Given the description of an element on the screen output the (x, y) to click on. 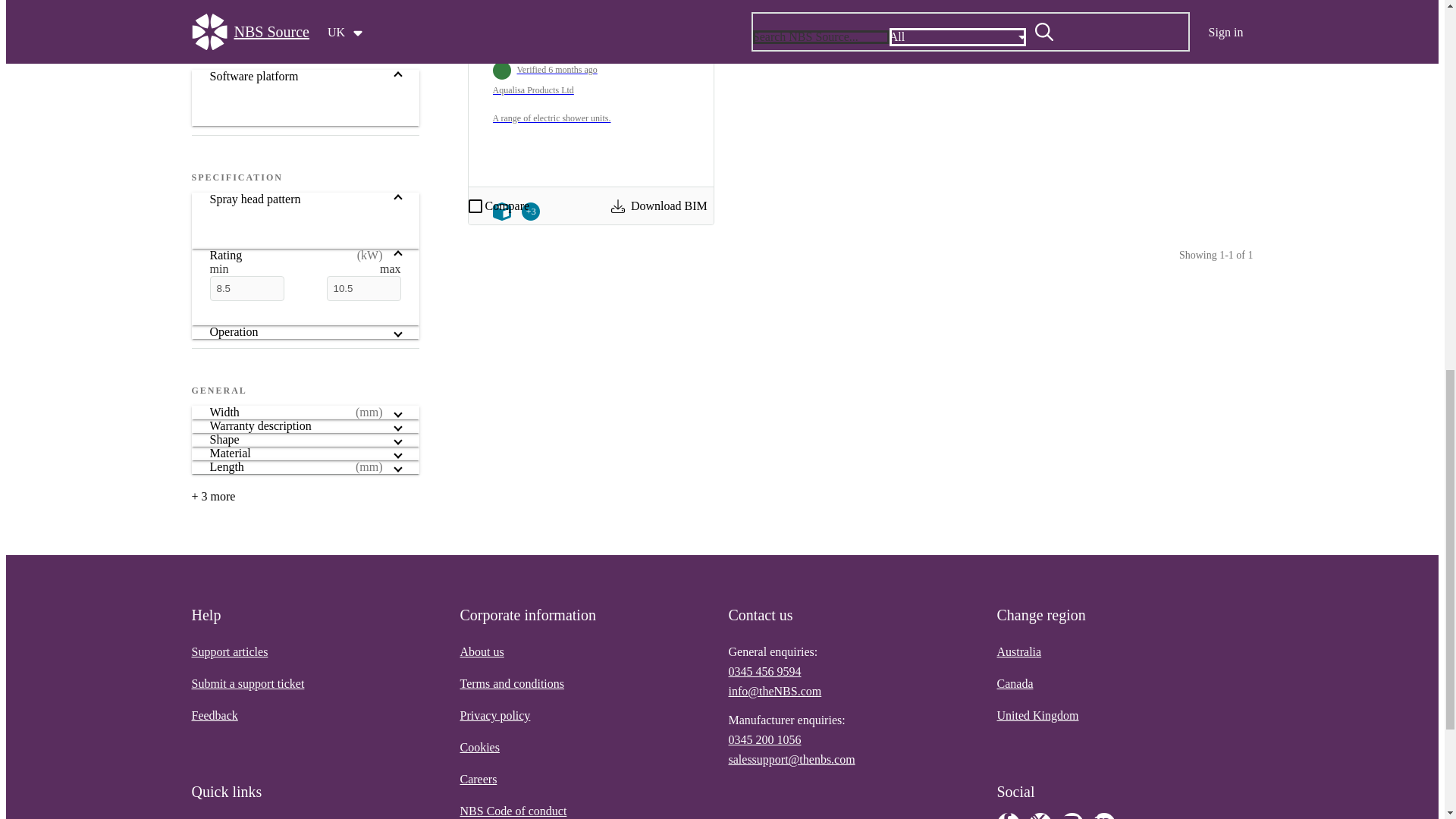
8.5 (246, 288)
10.5 (363, 288)
